Given the description of an element on the screen output the (x, y) to click on. 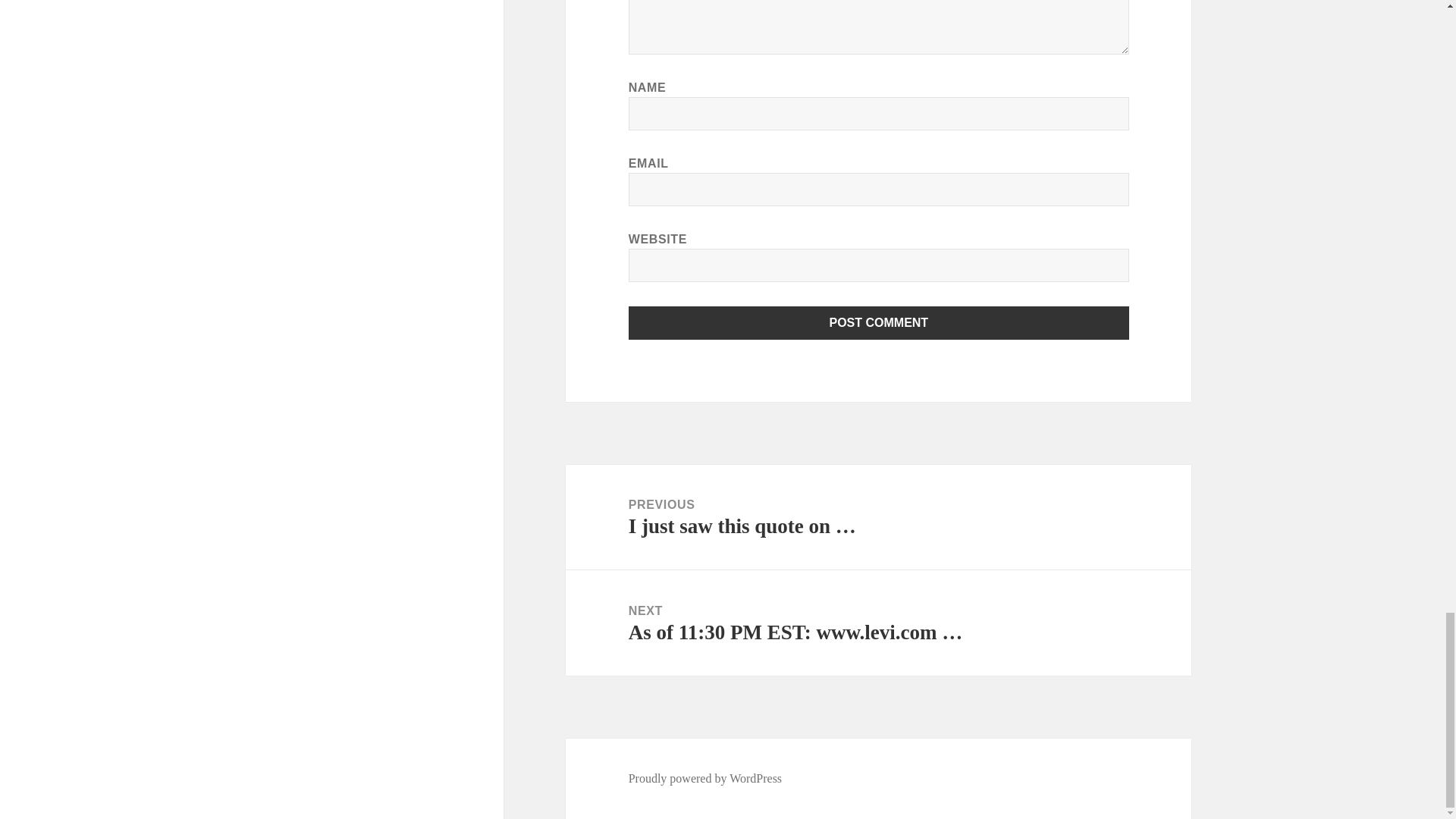
Post Comment (878, 322)
Proudly powered by WordPress (704, 778)
Post Comment (878, 322)
